Given the description of an element on the screen output the (x, y) to click on. 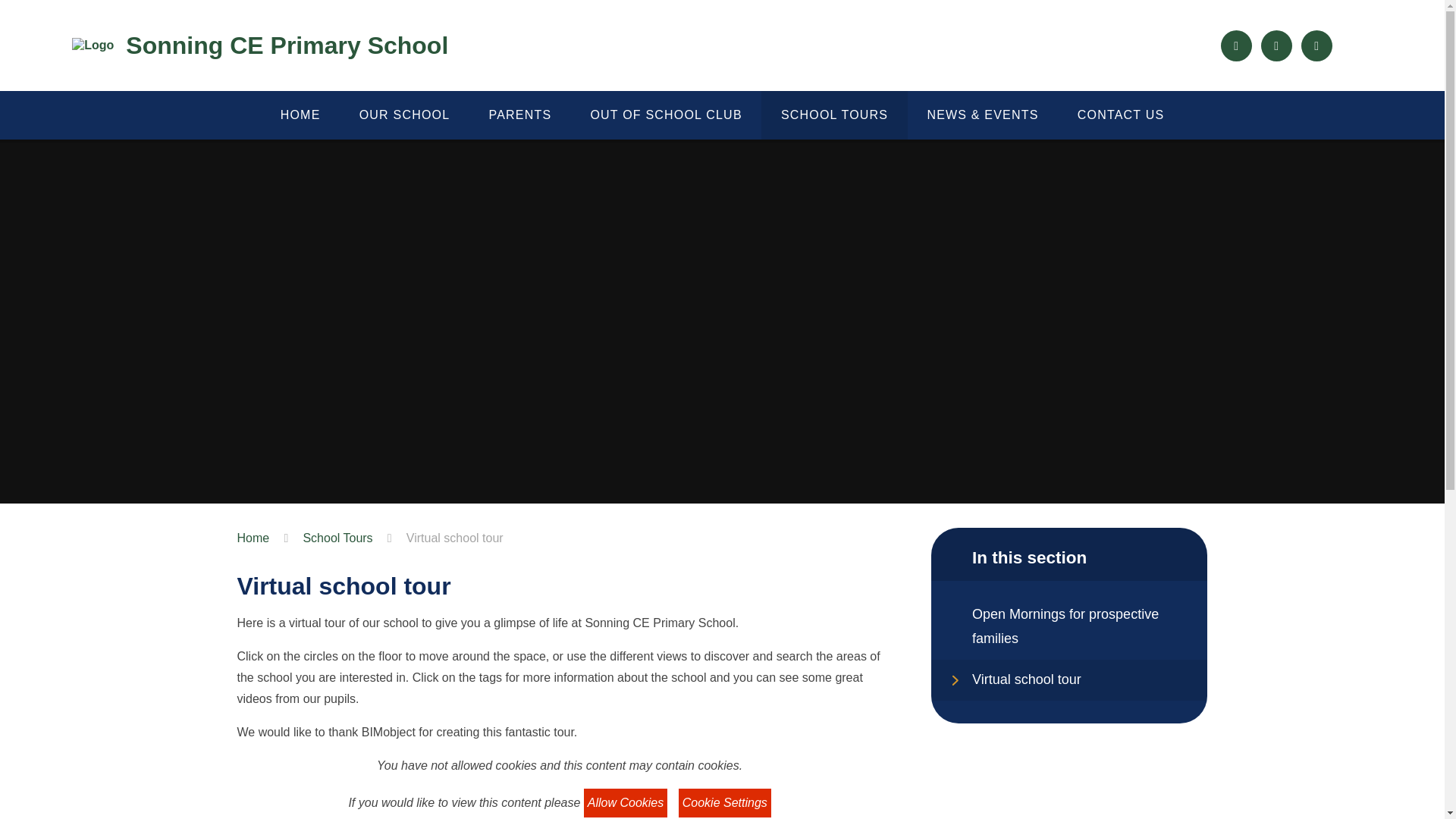
OUR SCHOOL (403, 114)
Sonning CE Primary School (259, 45)
HOME (299, 114)
